Given the description of an element on the screen output the (x, y) to click on. 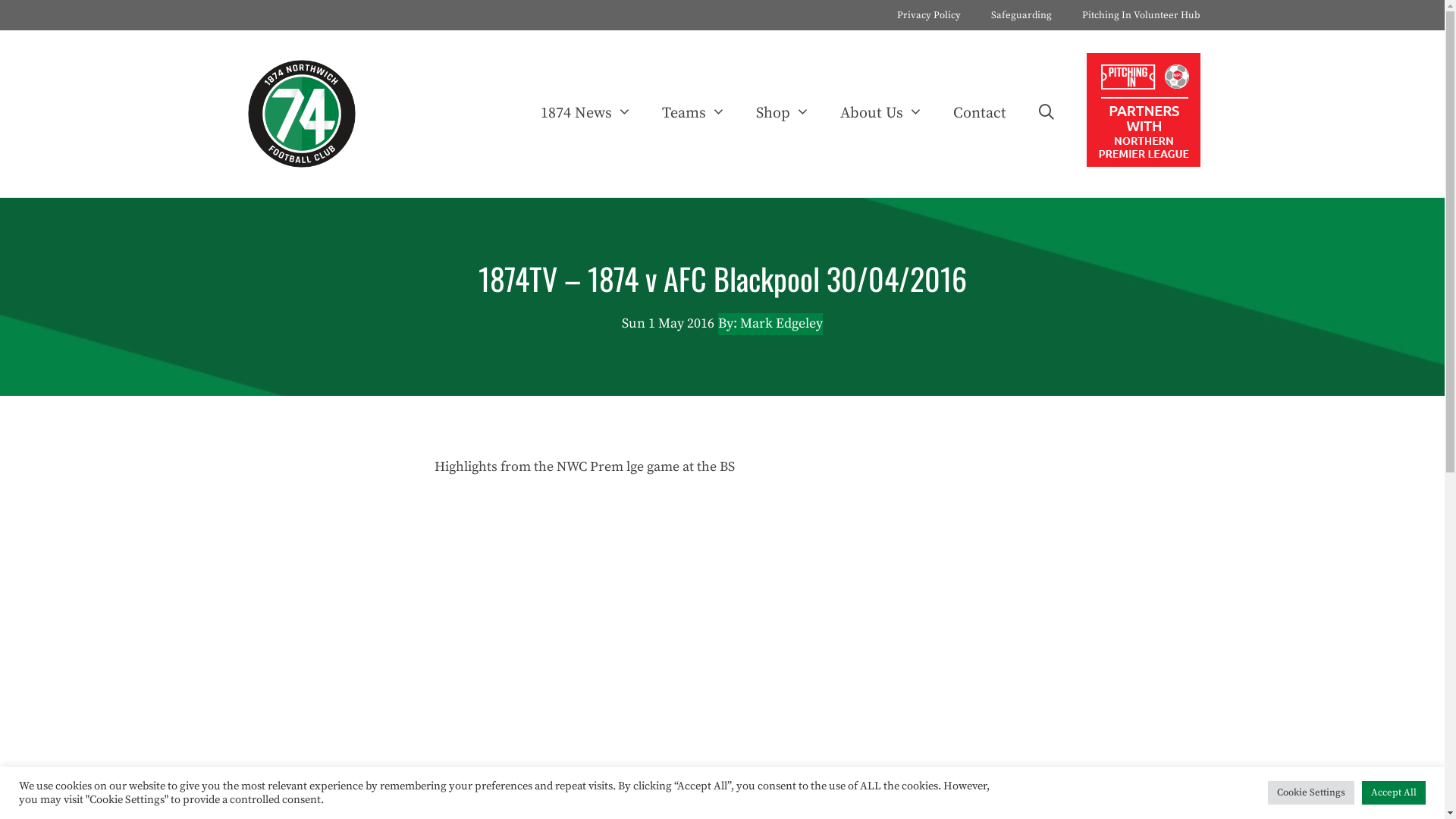
Contact Element type: text (979, 113)
Accept All Element type: text (1393, 792)
1874 News Element type: text (585, 113)
Teams Element type: text (693, 113)
Shop Element type: text (782, 113)
Cookie Settings Element type: text (1310, 792)
Safeguarding Element type: text (1020, 15)
Privacy Policy Element type: text (928, 15)
About Us Element type: text (881, 113)
1st Team Element type: text (474, 806)
Pitching In Volunteer Hub Element type: text (1140, 15)
